Given the description of an element on the screen output the (x, y) to click on. 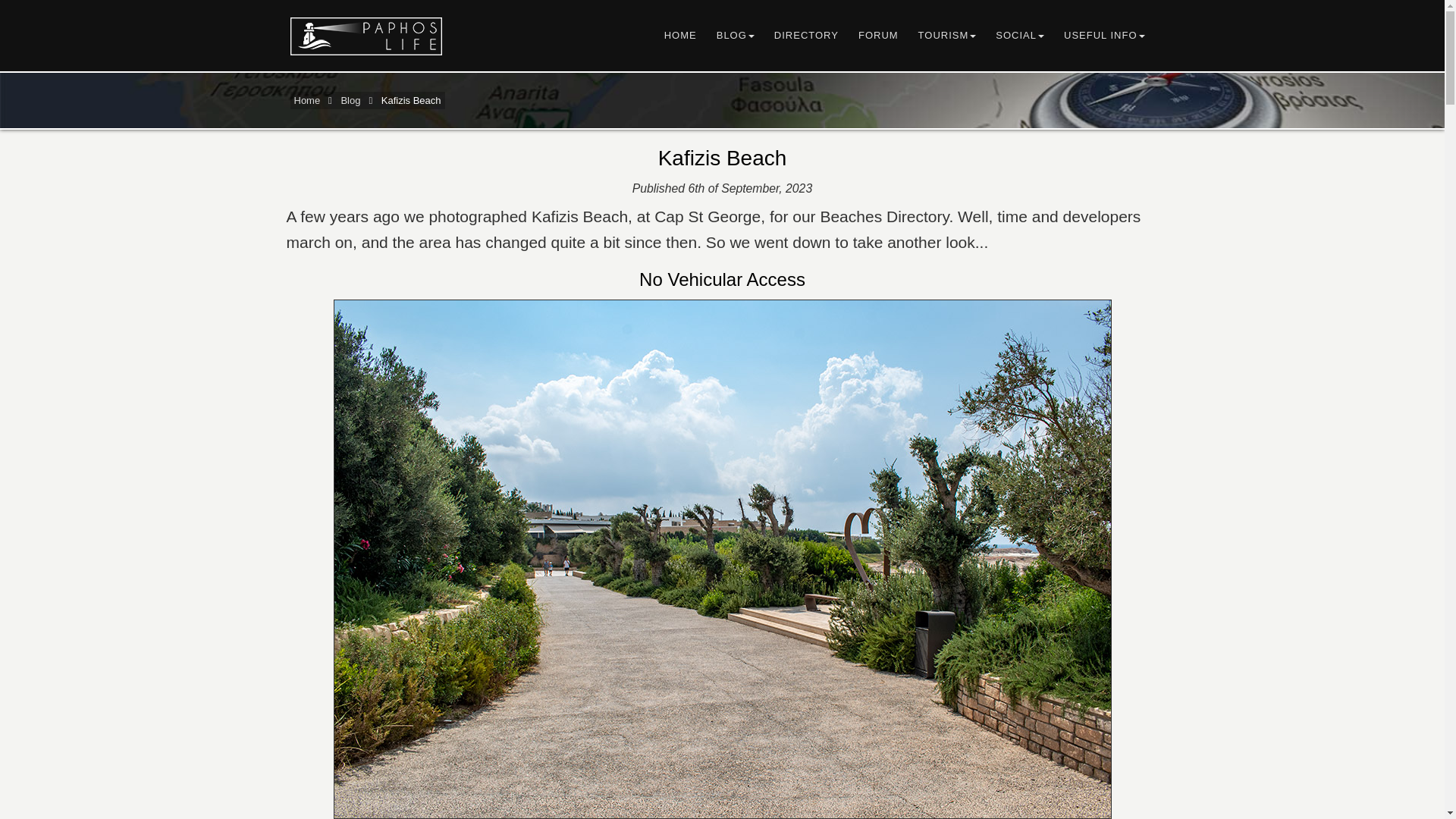
DIRECTORY (806, 35)
TOURISM (947, 35)
SOCIAL (1019, 35)
Directory (806, 35)
